Given the description of an element on the screen output the (x, y) to click on. 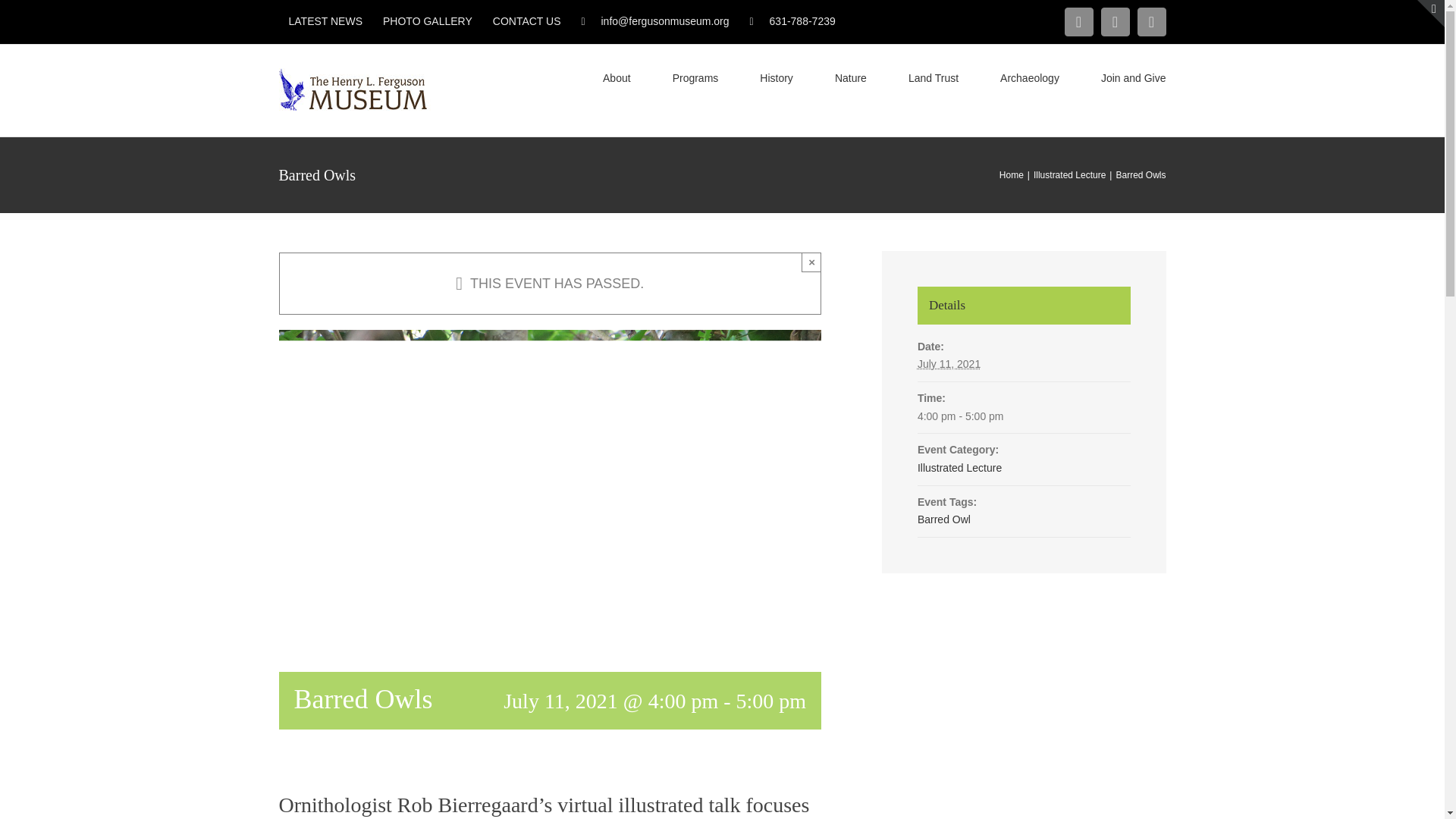
Email (1151, 21)
LATEST NEWS (325, 21)
Facebook (1078, 21)
2021-07-11 (948, 363)
Instagram (1114, 21)
Instagram (1114, 21)
631-788-7239 (792, 21)
CONTACT US (526, 21)
Facebook (1078, 21)
PHOTO GALLERY (426, 21)
